Given the description of an element on the screen output the (x, y) to click on. 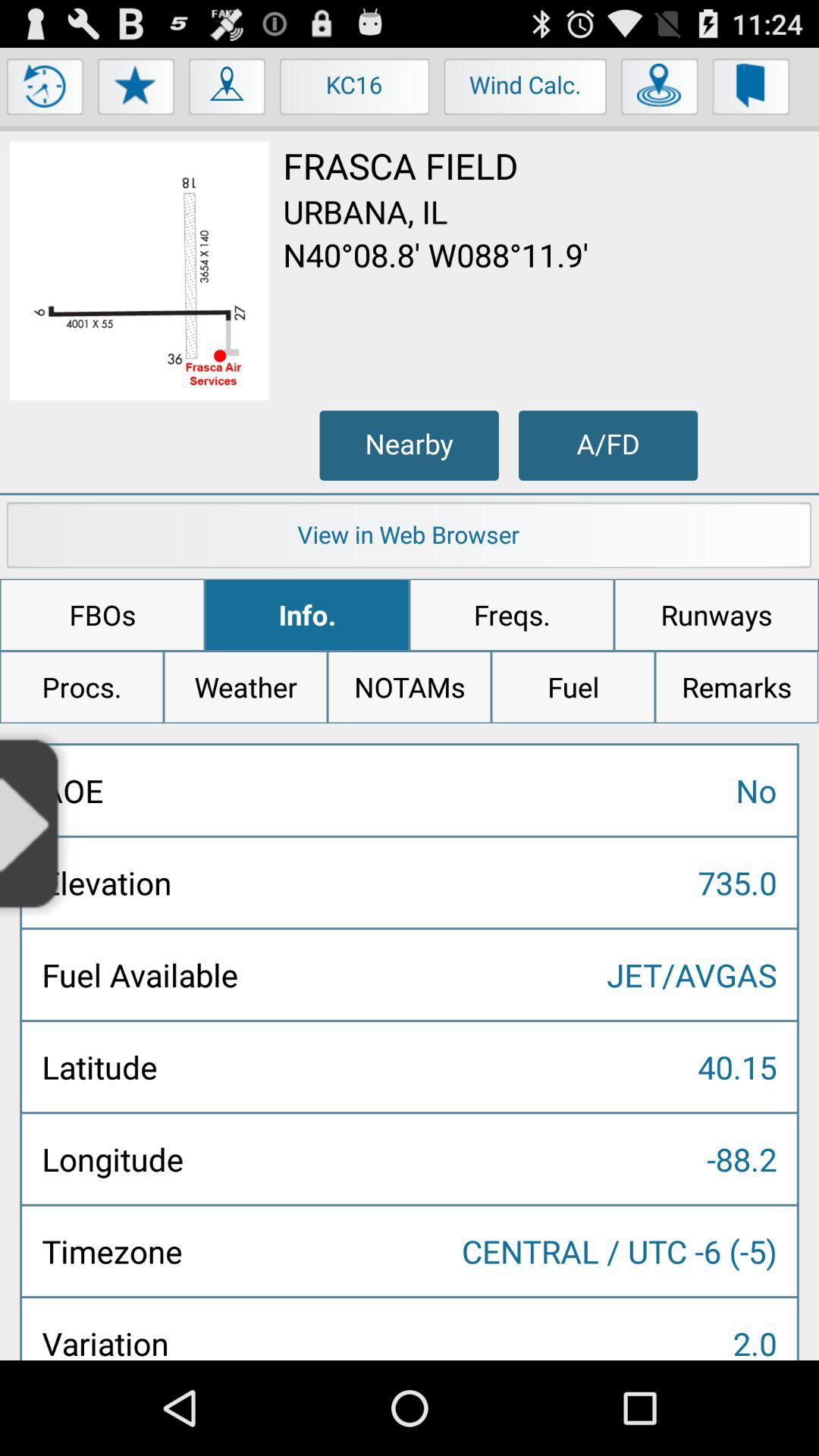
turn off the icon above no (736, 687)
